Given the description of an element on the screen output the (x, y) to click on. 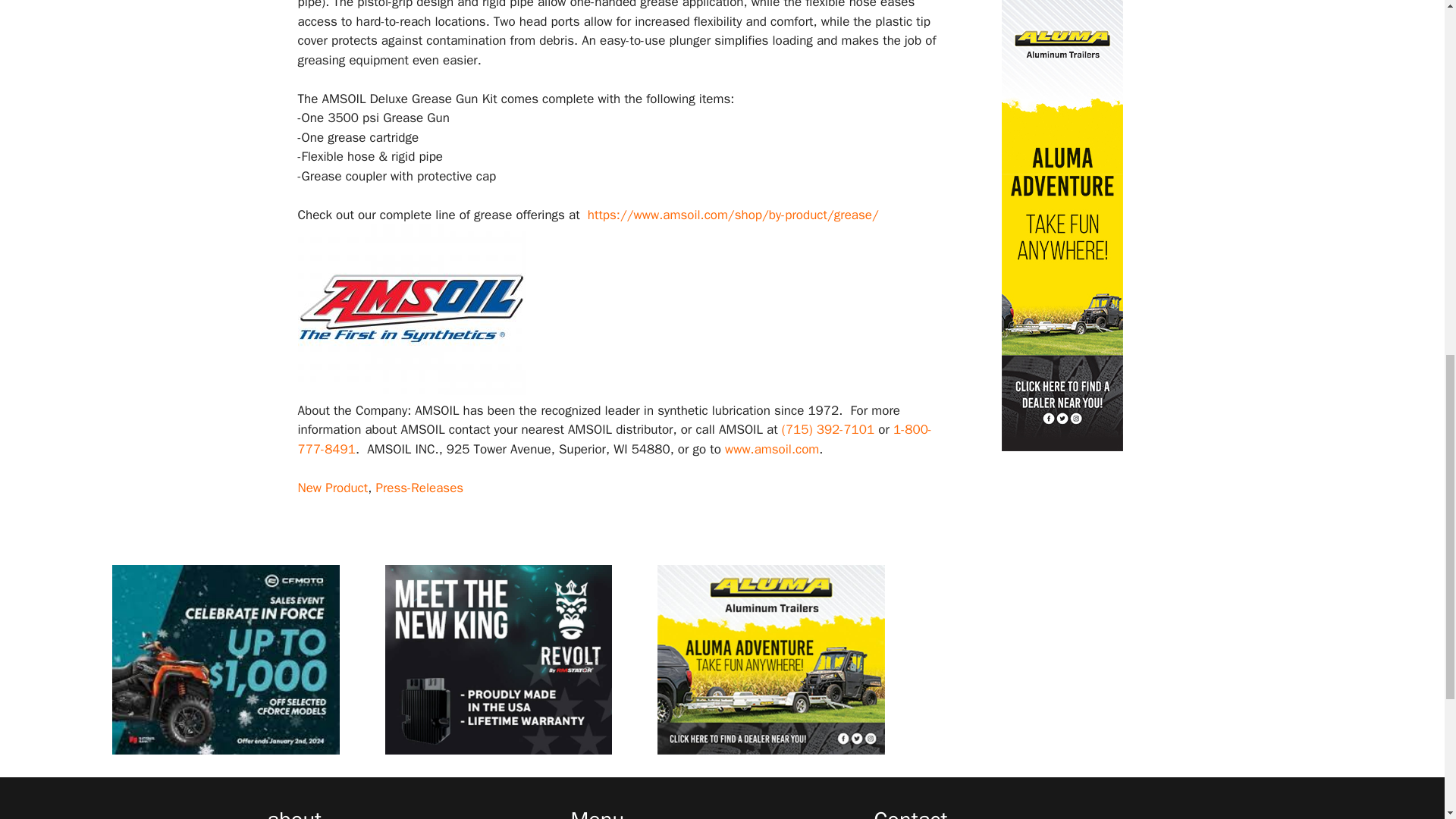
1-800-777-8491 (614, 439)
New Product (332, 487)
Press-Releases (419, 487)
www.amsoil.com (771, 449)
